Given the description of an element on the screen output the (x, y) to click on. 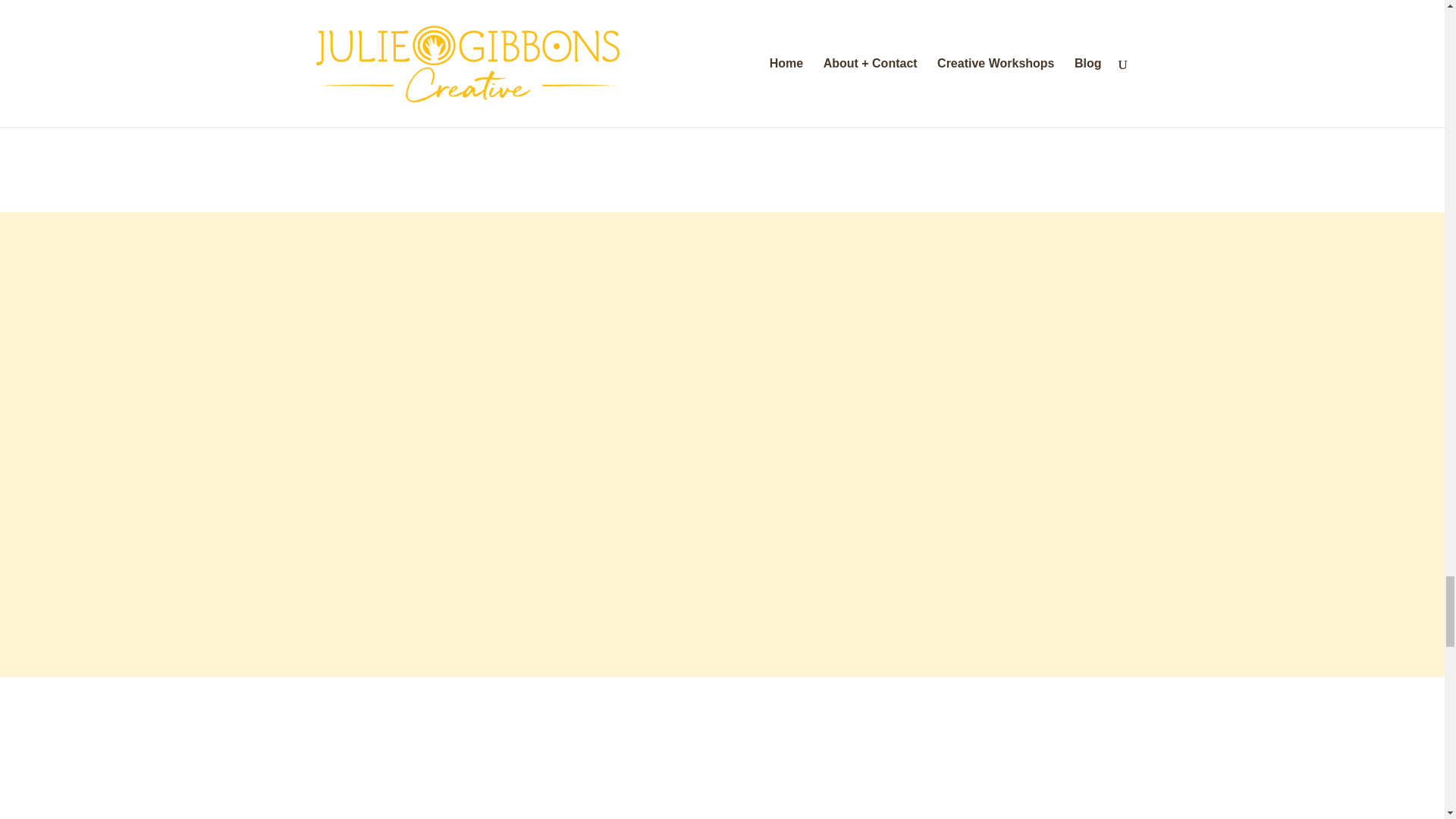
Solar Power Mandala (144, 102)
Solar Symbols Mandala (827, 102)
